Given the description of an element on the screen output the (x, y) to click on. 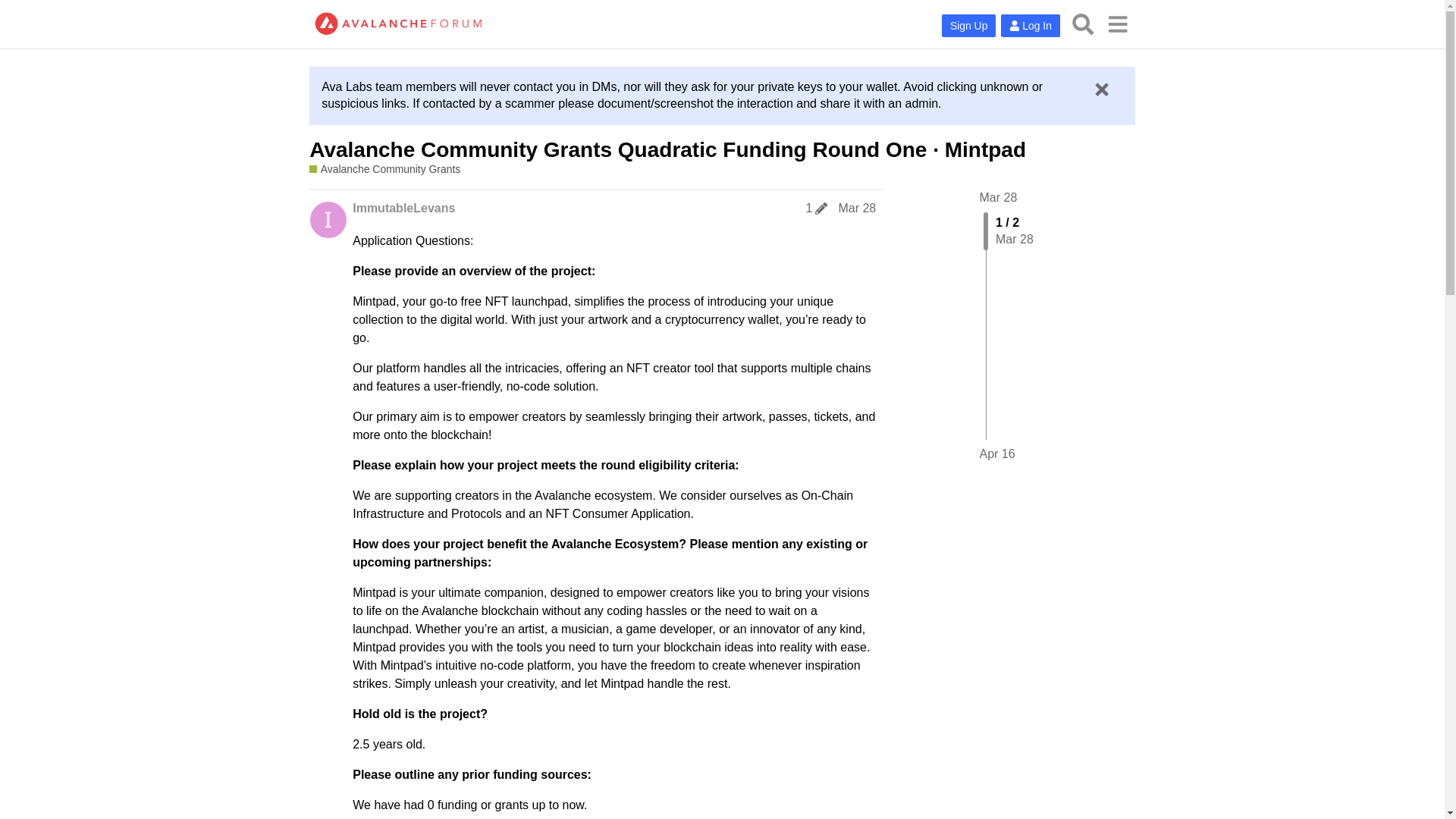
Apr 16 (996, 453)
Jump to the last post (996, 453)
Avalanche Community Grants (384, 169)
Sign Up (968, 25)
1 (817, 208)
menu (1117, 23)
Search (1082, 23)
Mar 28 (998, 196)
Dismiss this banner (1101, 88)
Post date (857, 207)
Log In (1030, 25)
post last edited on Mar 28, 2024 9:24 pm (817, 208)
ImmutableLevans (403, 208)
Jump to the first post (998, 196)
